Given the description of an element on the screen output the (x, y) to click on. 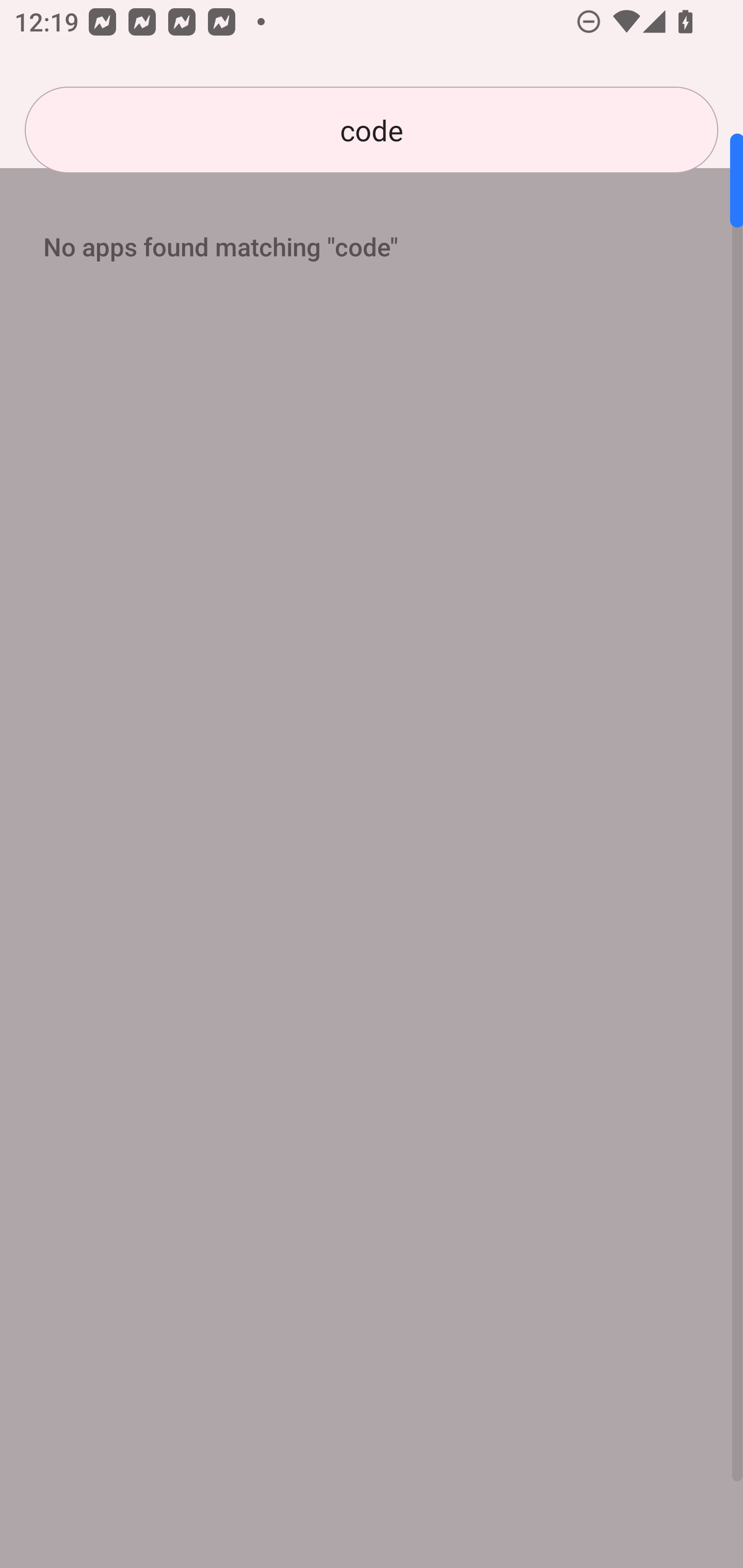
code (371, 130)
